Given the description of an element on the screen output the (x, y) to click on. 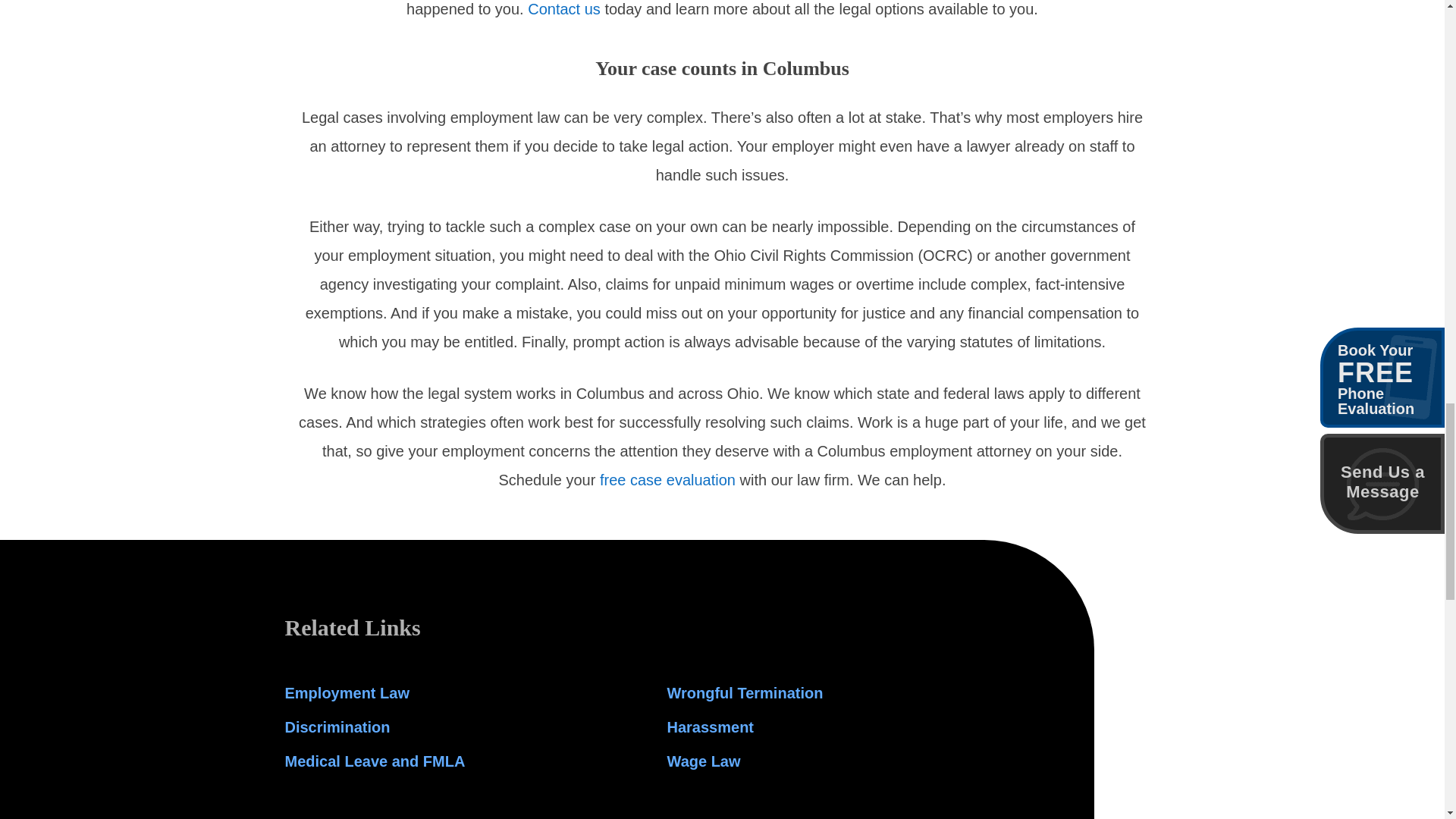
Employment Law (347, 692)
Contact us (563, 8)
Medical Leave and FMLA (375, 760)
Discrimination (337, 727)
Harassment (710, 727)
Wage Law (703, 760)
Wrongful Termination (745, 692)
Contact Us (563, 8)
Free Case Evaluation (667, 479)
free case evaluation (667, 479)
